Given the description of an element on the screen output the (x, y) to click on. 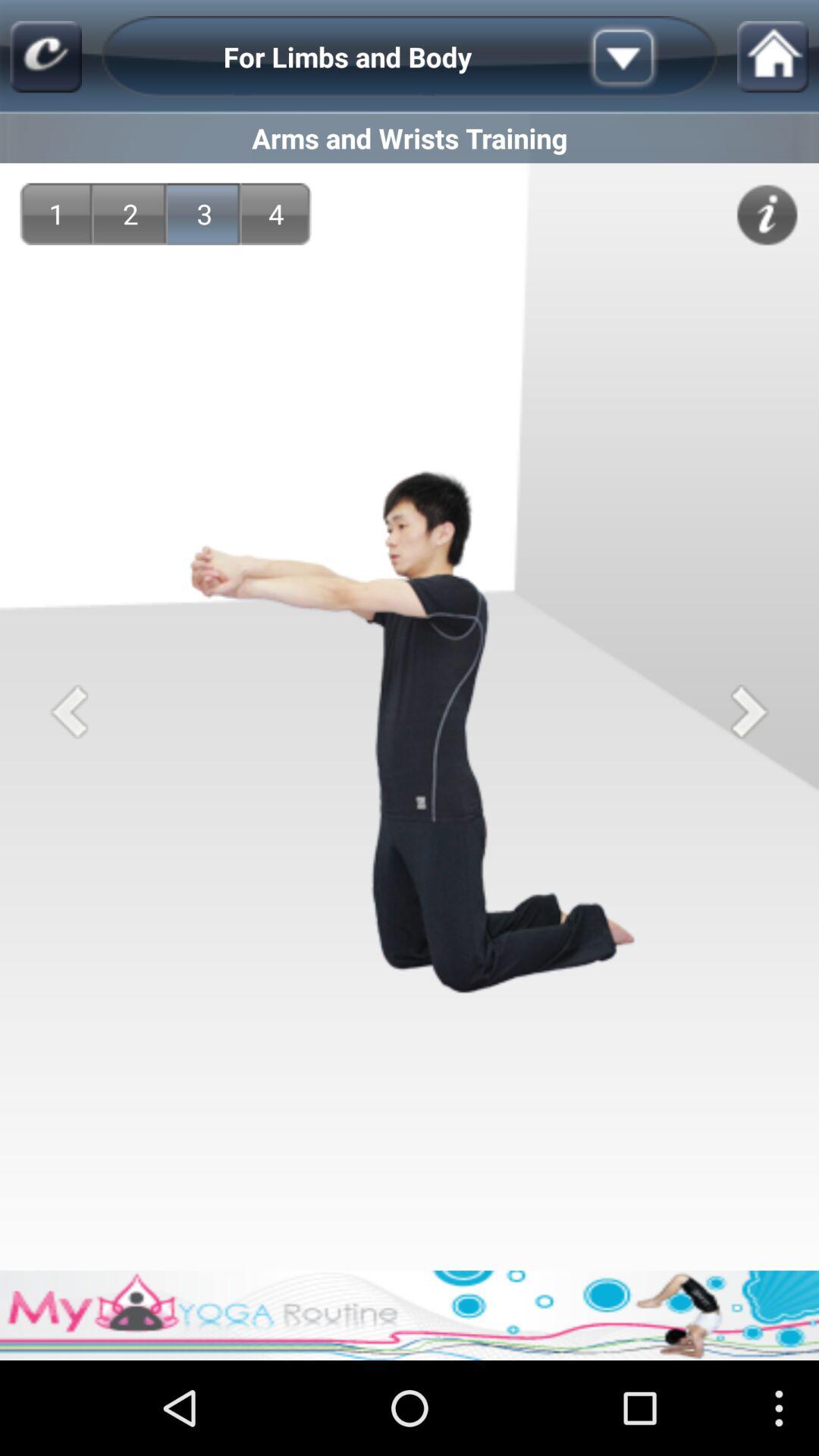
toggle information button (767, 214)
